Given the description of an element on the screen output the (x, y) to click on. 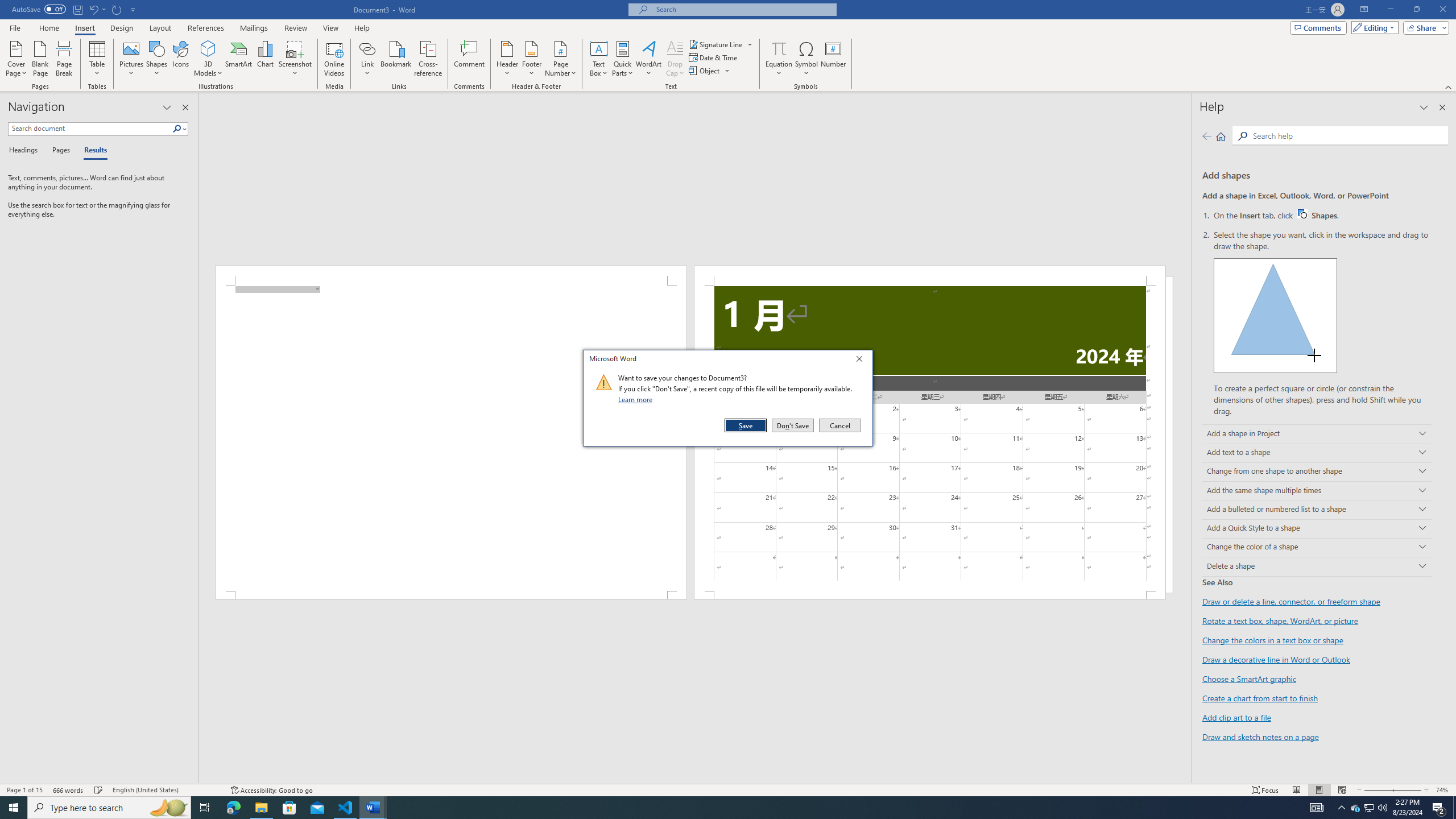
3D Models (208, 58)
Minimize (1390, 9)
Repeat Doc Close (117, 9)
Mailings (253, 28)
Task Pane Options (167, 107)
Headings (25, 150)
Review (295, 28)
Search (179, 128)
Signature Line (716, 44)
Focus  (1265, 790)
Number... (833, 58)
Comment (469, 58)
